Given the description of an element on the screen output the (x, y) to click on. 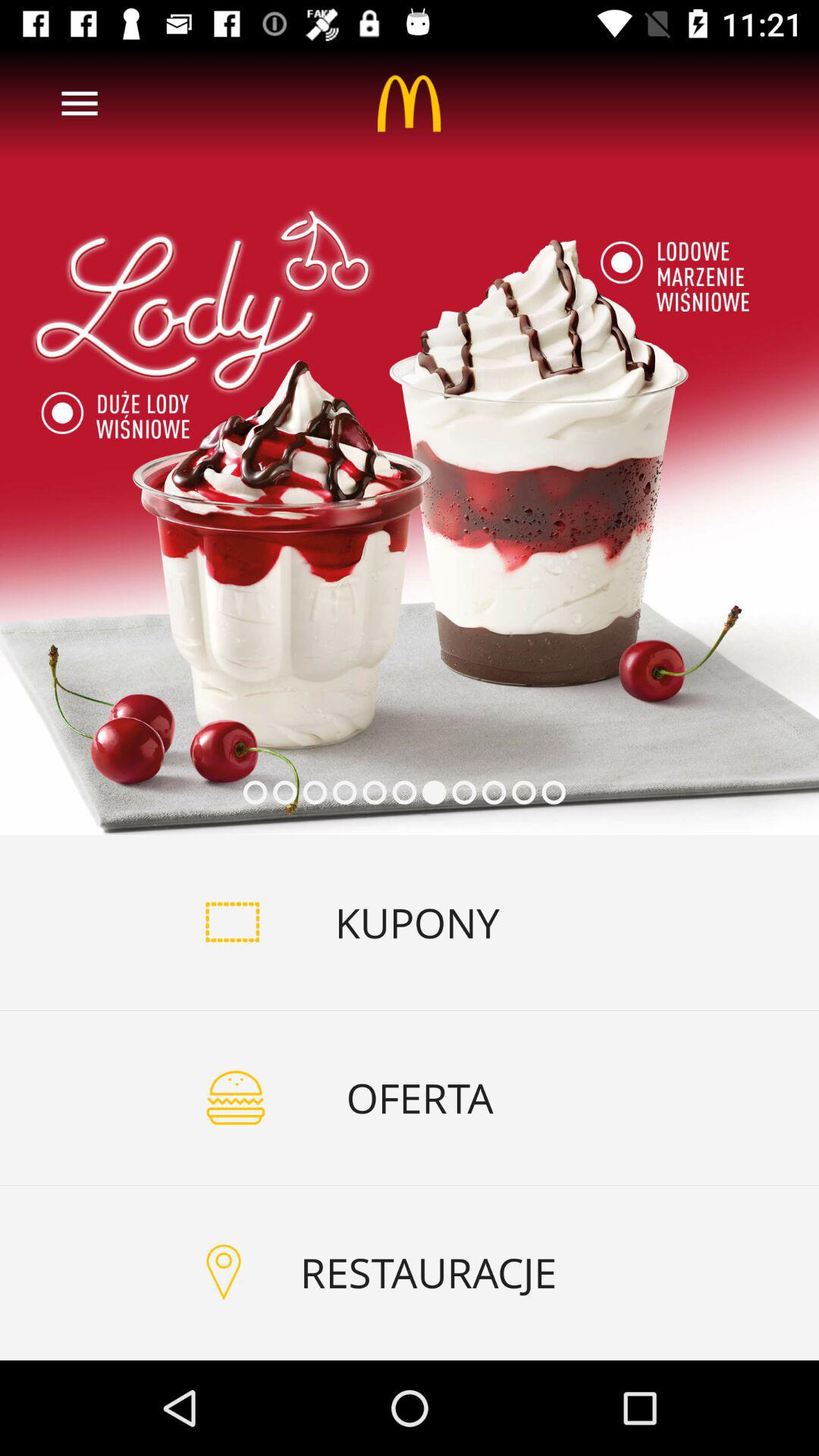
click your add image (409, 440)
